Given the description of an element on the screen output the (x, y) to click on. 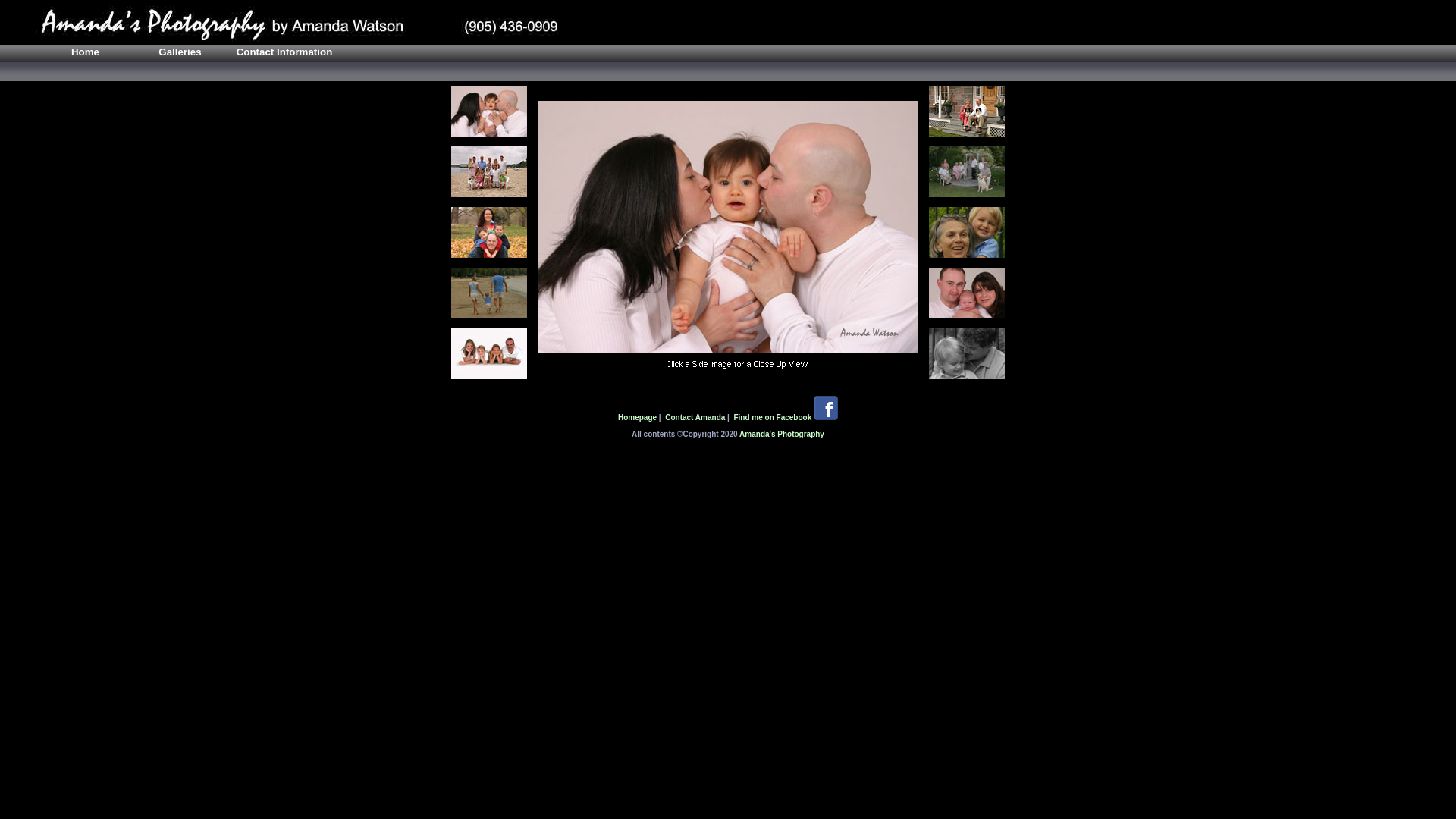
Contact Information Element type: text (284, 53)
Home Element type: text (84, 53)
Contact Amanda Element type: text (694, 417)
Galleries Element type: text (179, 53)
Amanda's Photography Element type: text (781, 433)
Facebook Element type: hover (825, 417)
Find me on Facebook Element type: text (773, 417)
Homepage Element type: text (637, 417)
